Given the description of an element on the screen output the (x, y) to click on. 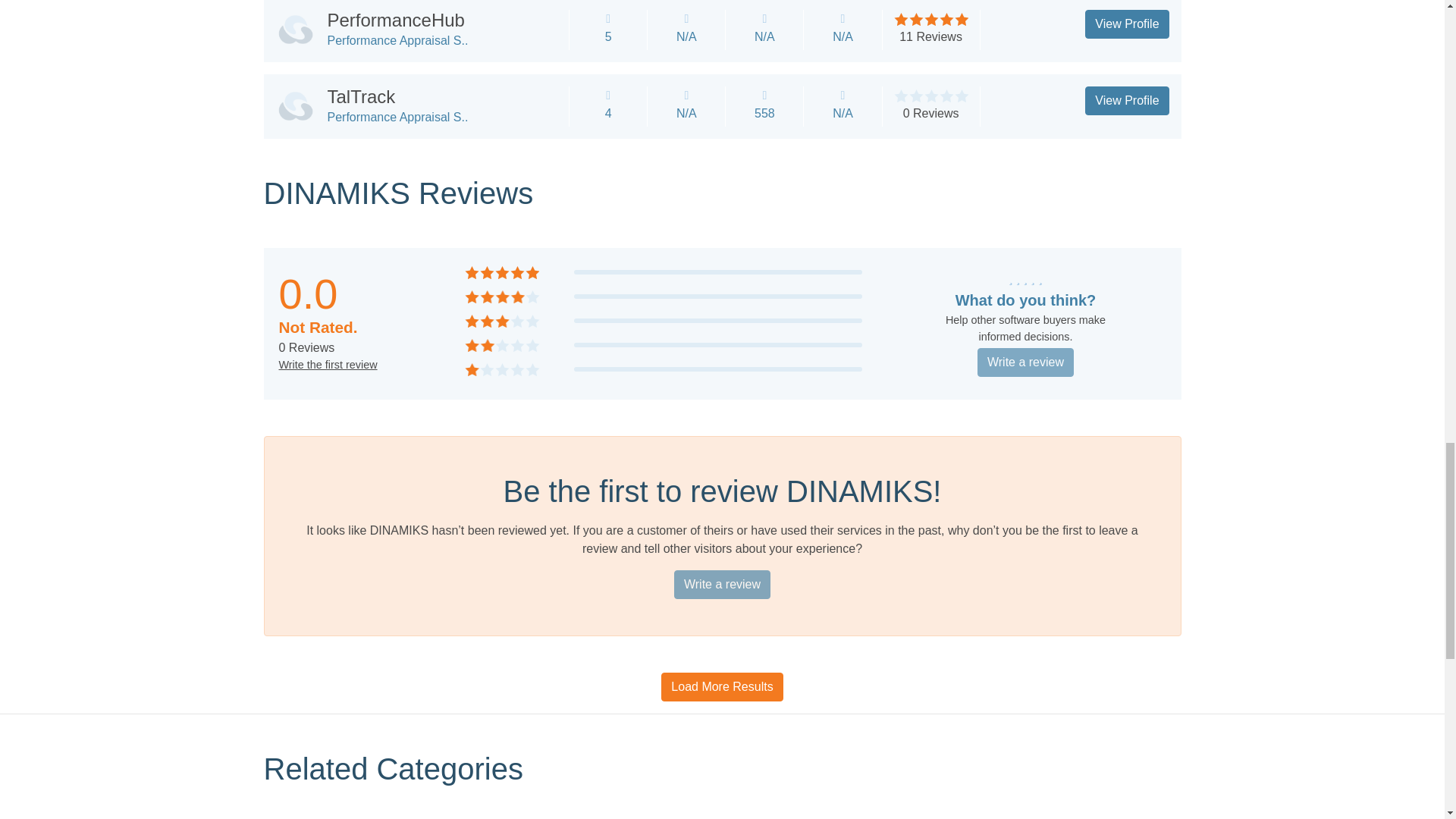
Write the first review (328, 364)
TalTrack (361, 96)
0 Reviews (930, 113)
11 Reviews (930, 36)
View Profile (1126, 23)
PerformanceHub (395, 19)
View Profile (1126, 100)
